Given the description of an element on the screen output the (x, y) to click on. 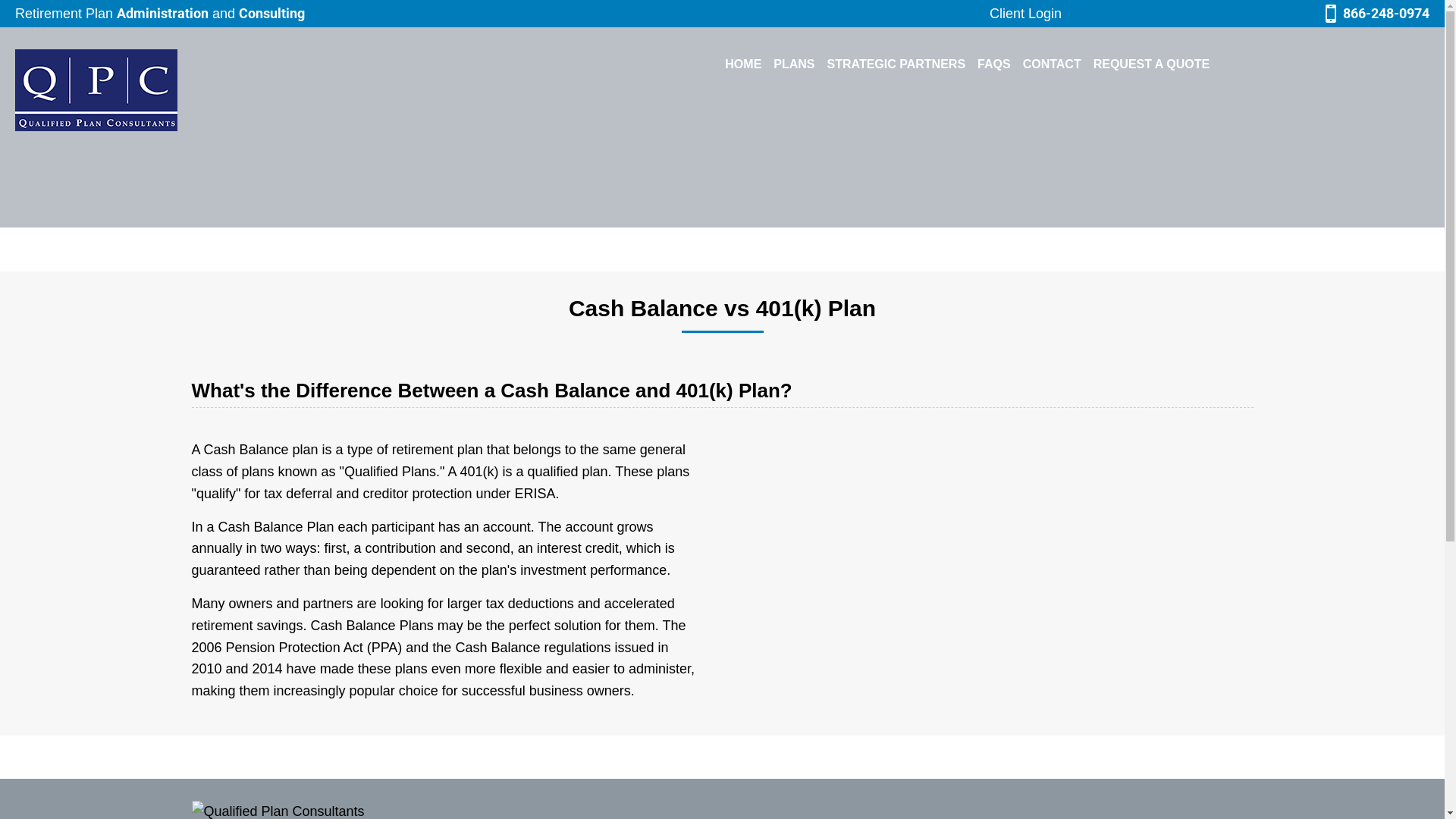
CONTACT Element type: text (1051, 64)
Call Qualified Plan Consultants at 866-248-0974 866-248-0974 Element type: text (1375, 13)
FAQS Element type: text (993, 64)
REQUEST A QUOTE Element type: text (1151, 64)
STRATEGIC PARTNERS Element type: text (896, 64)
Client Login Element type: text (1025, 13)
HOME Element type: text (742, 64)
PLANS Element type: text (793, 64)
